Given the description of an element on the screen output the (x, y) to click on. 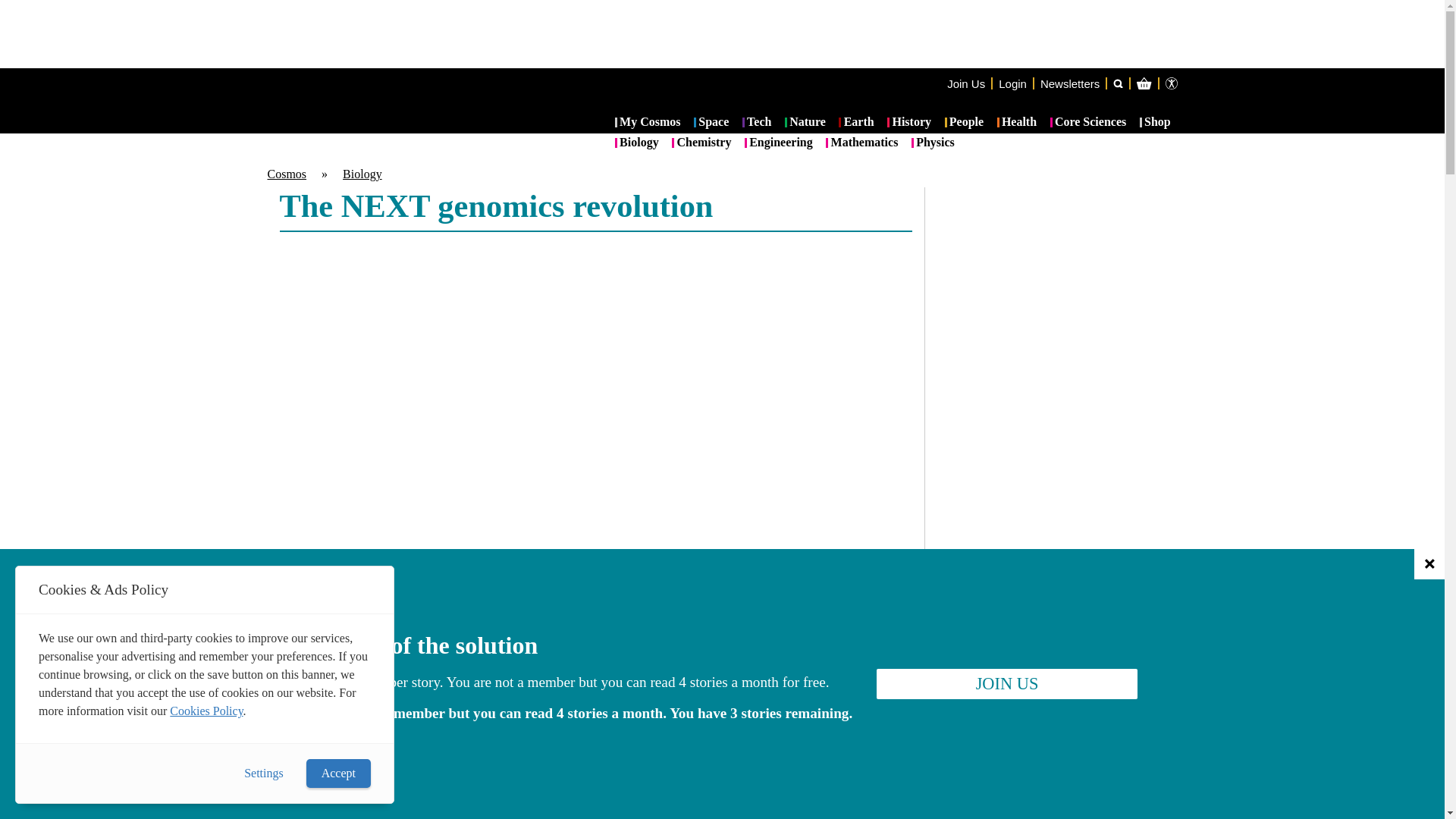
Biology (361, 173)
Newsletters (1070, 82)
Join Us (966, 82)
Tech (756, 122)
Health (1016, 122)
Cosmos (285, 173)
History (908, 122)
Accessibility Tools (1170, 82)
Physics (933, 143)
Biology (636, 143)
Nature (804, 122)
My Cosmos (647, 122)
Earth (855, 122)
Mathematics (861, 143)
Core Sciences (1087, 122)
